Given the description of an element on the screen output the (x, y) to click on. 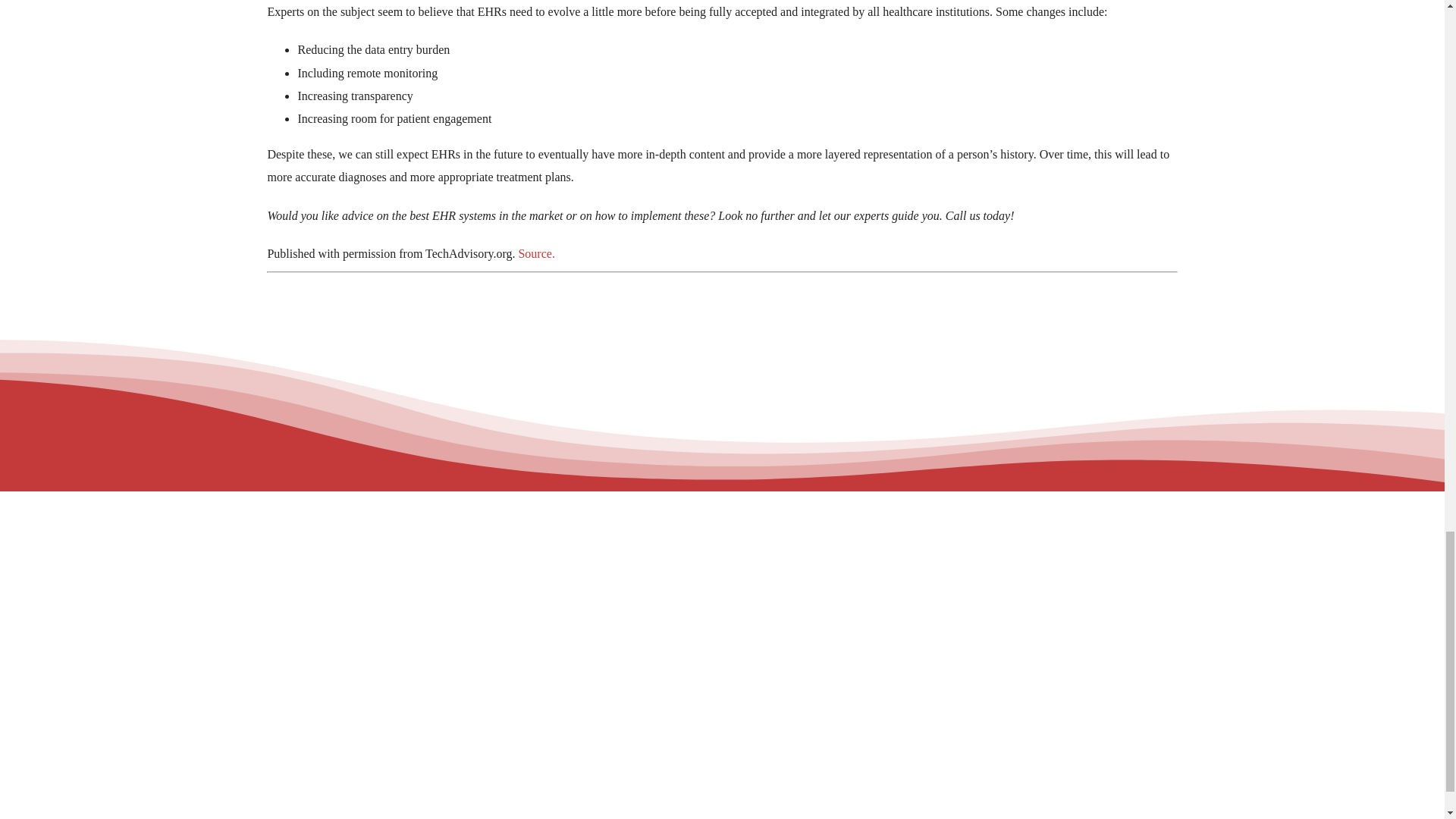
855-698-4373 (365, 681)
TIER3MD-LOGO (365, 558)
Source. (536, 253)
